Given the description of an element on the screen output the (x, y) to click on. 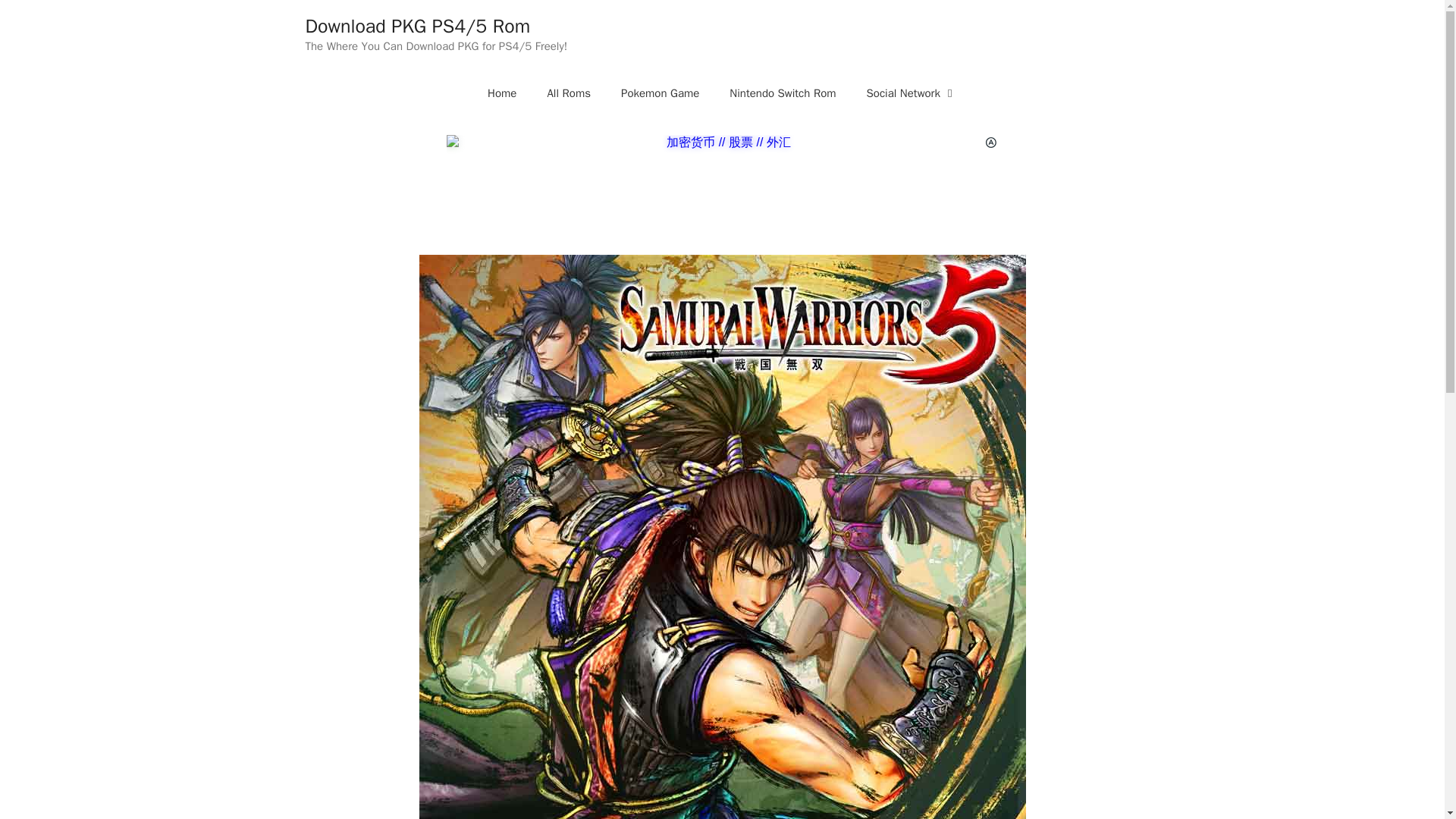
Home (501, 92)
Nintendo Switch Rom (782, 92)
Social Network (911, 92)
Pokemon Game (659, 92)
All Roms (568, 92)
